Given the description of an element on the screen output the (x, y) to click on. 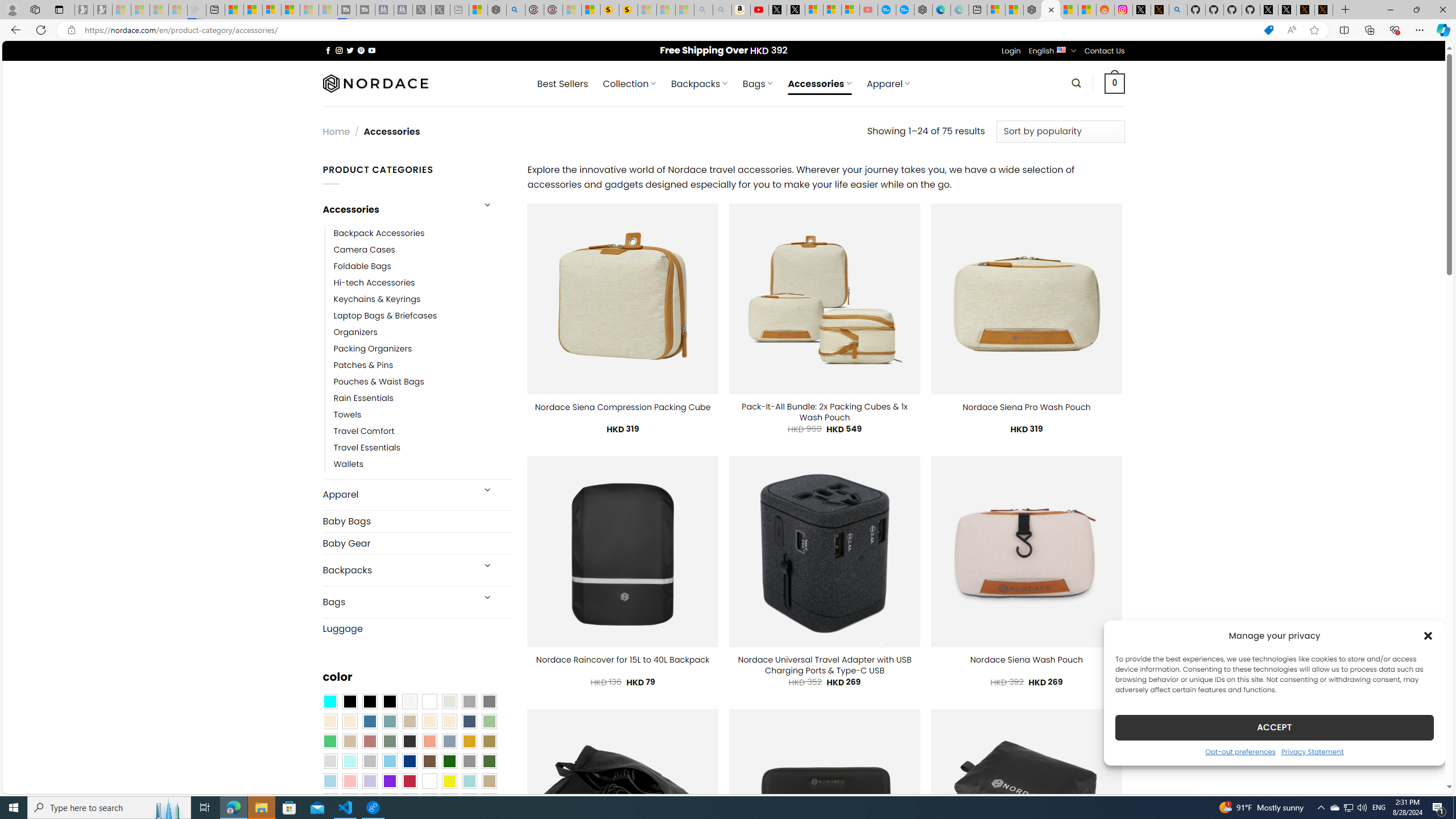
Camera Cases (363, 248)
Travel Comfort (363, 431)
Blue (369, 721)
Pink (349, 780)
Aqua Blue (329, 701)
Log in to X / X (1142, 9)
Camera Cases (422, 248)
Shop order (1060, 131)
